Given the description of an element on the screen output the (x, y) to click on. 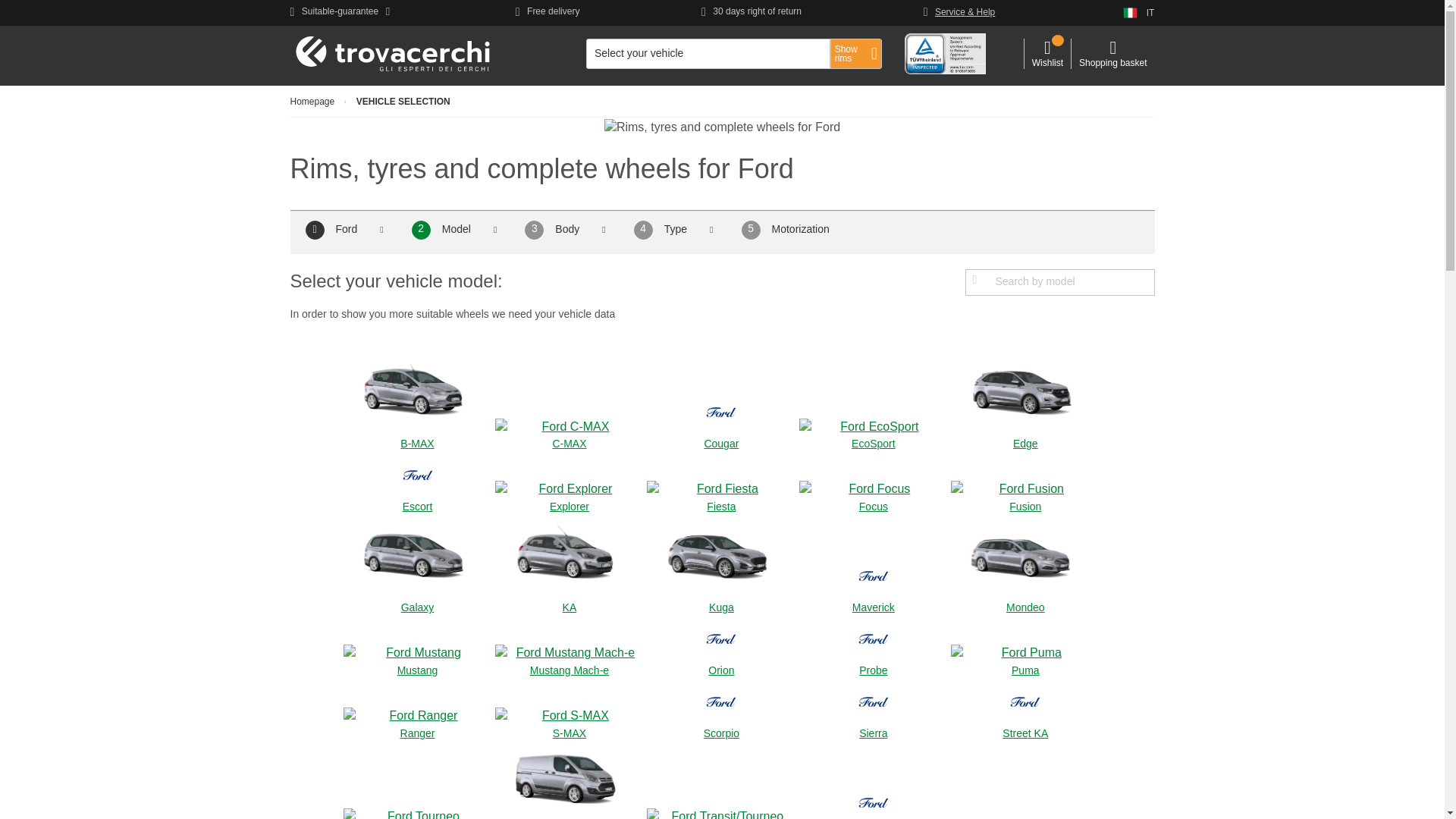
Maverick (873, 583)
C-MAX (569, 434)
select Ford B-MAX (417, 393)
S-MAX (569, 723)
Ranger (417, 723)
Cougar (720, 419)
 Buy rims for Ford at a good price (722, 127)
Homepage (311, 101)
select Ford C-MAX (569, 434)
Fiesta (720, 496)
Ford (345, 228)
Show all rims (854, 53)
Sierra (873, 709)
select Ford B-MAX (417, 400)
Scorpio (720, 709)
